Given the description of an element on the screen output the (x, y) to click on. 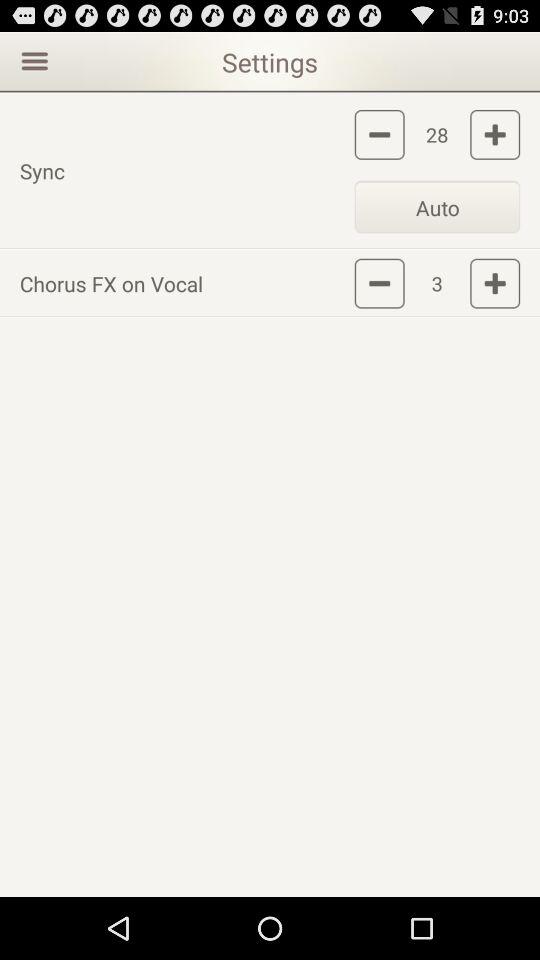
add sync setting (495, 134)
